Given the description of an element on the screen output the (x, y) to click on. 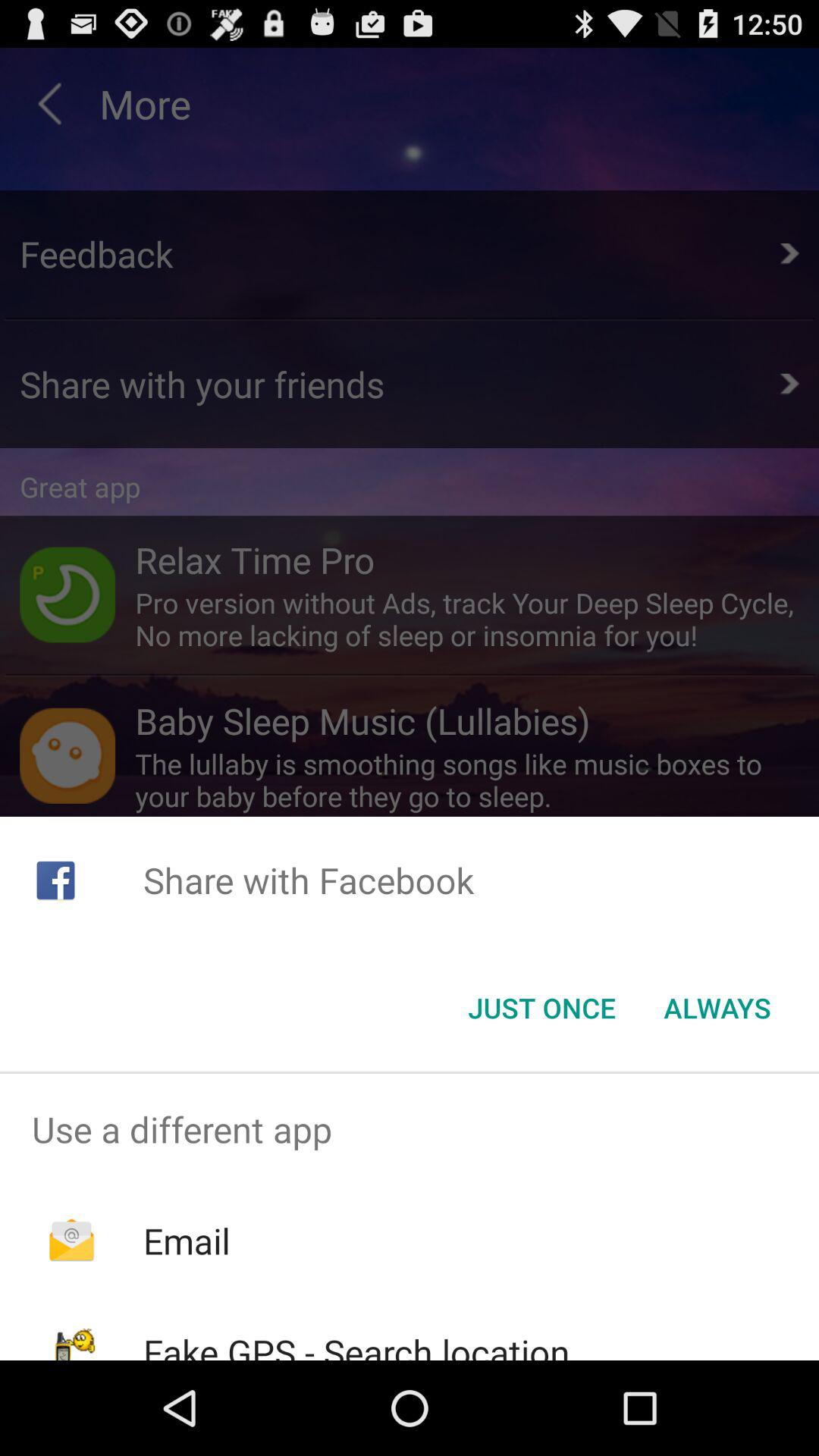
open item to the right of the just once item (717, 1007)
